Given the description of an element on the screen output the (x, y) to click on. 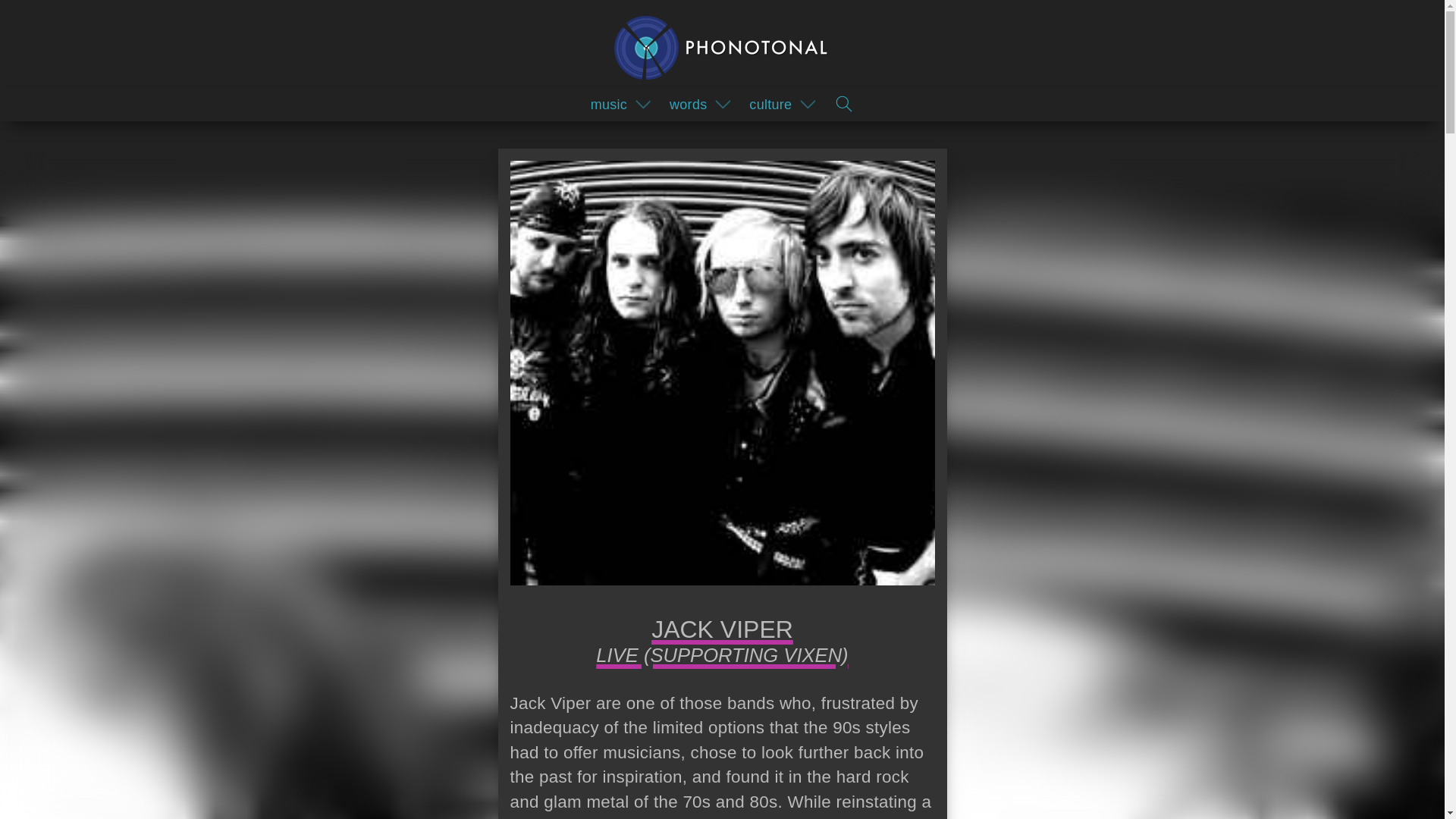
music (604, 103)
words (685, 103)
culture (767, 103)
